Given the description of an element on the screen output the (x, y) to click on. 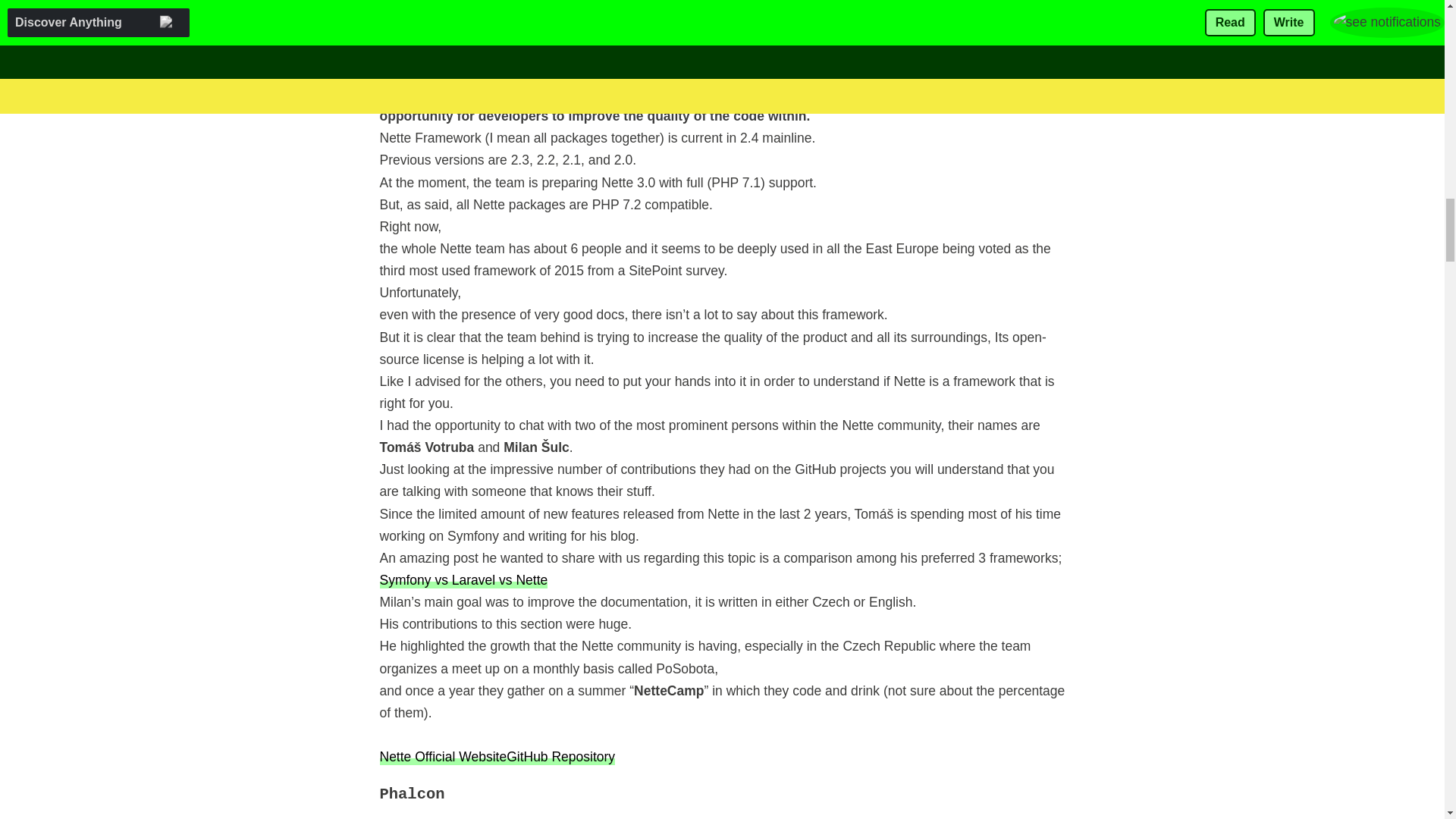
Symfony vs Laravel vs Nette (462, 579)
programming (877, 27)
GitHub Repository (560, 755)
Nette Official Website (442, 755)
